Given the description of an element on the screen output the (x, y) to click on. 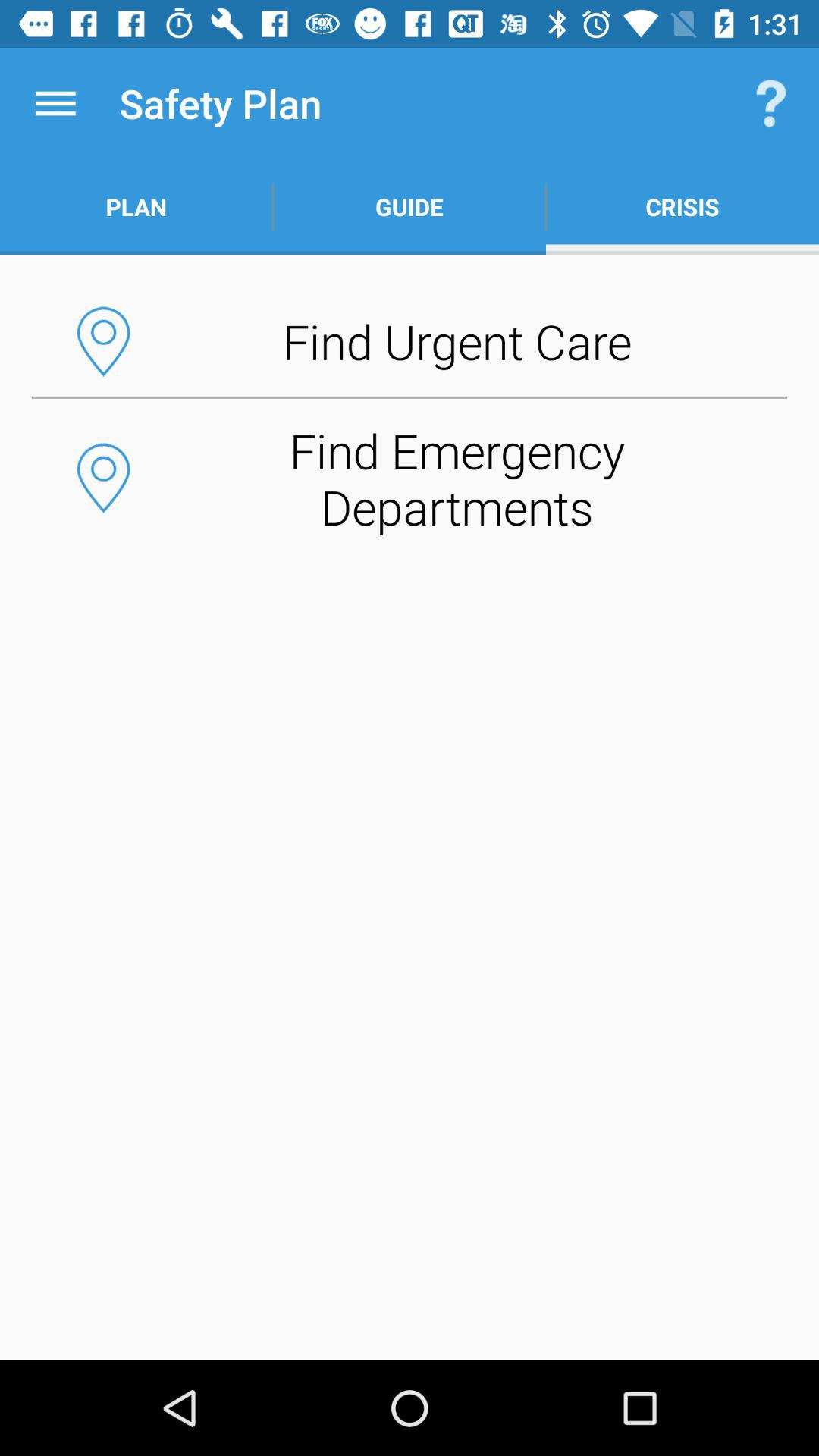
flip until the crisis item (682, 206)
